Given the description of an element on the screen output the (x, y) to click on. 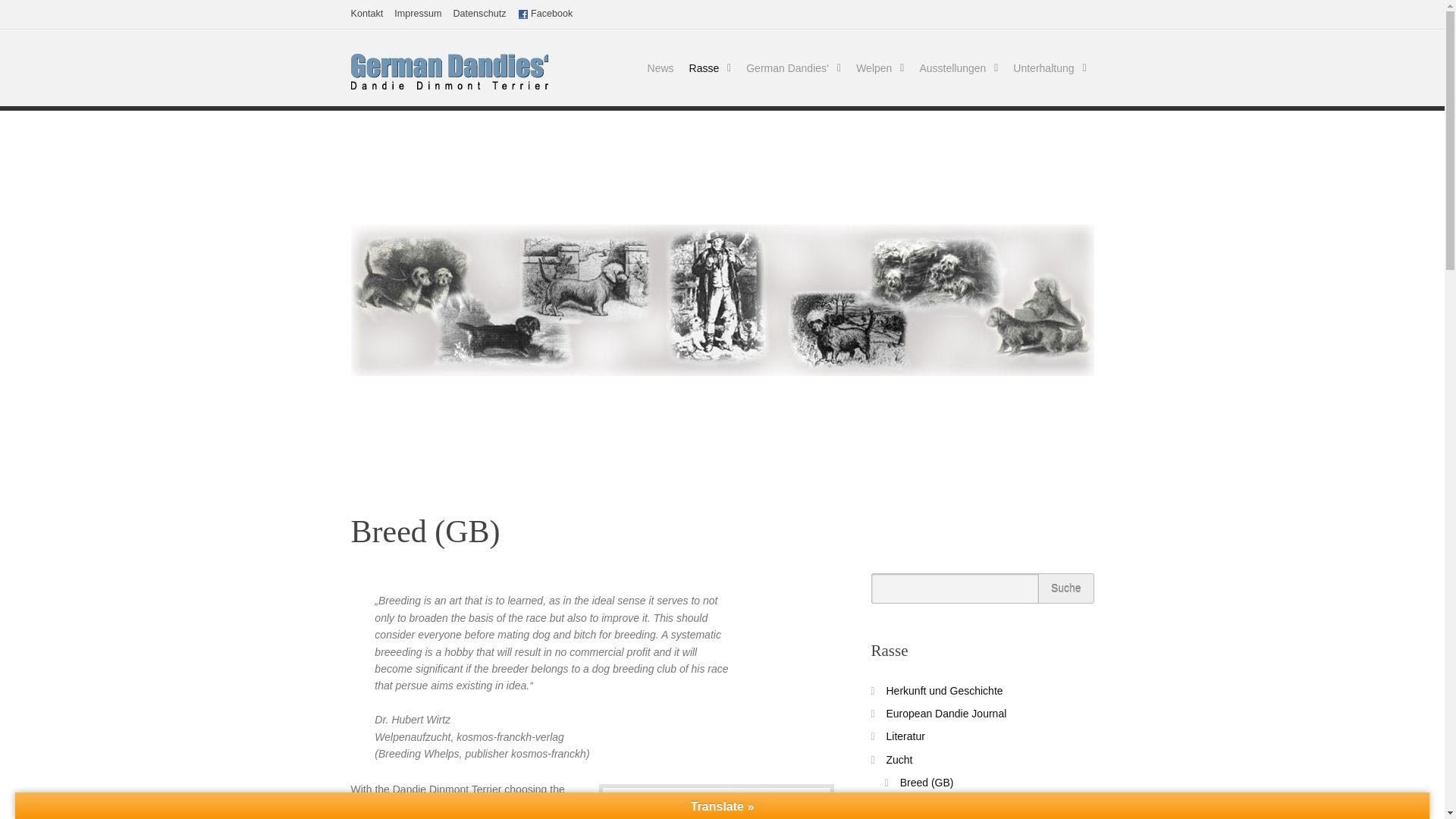
Rasse (710, 68)
News (660, 68)
Facebook (545, 14)
Impressum (417, 13)
Datenschutz (479, 13)
Kontakt (366, 13)
Suche (1066, 588)
